Given the description of an element on the screen output the (x, y) to click on. 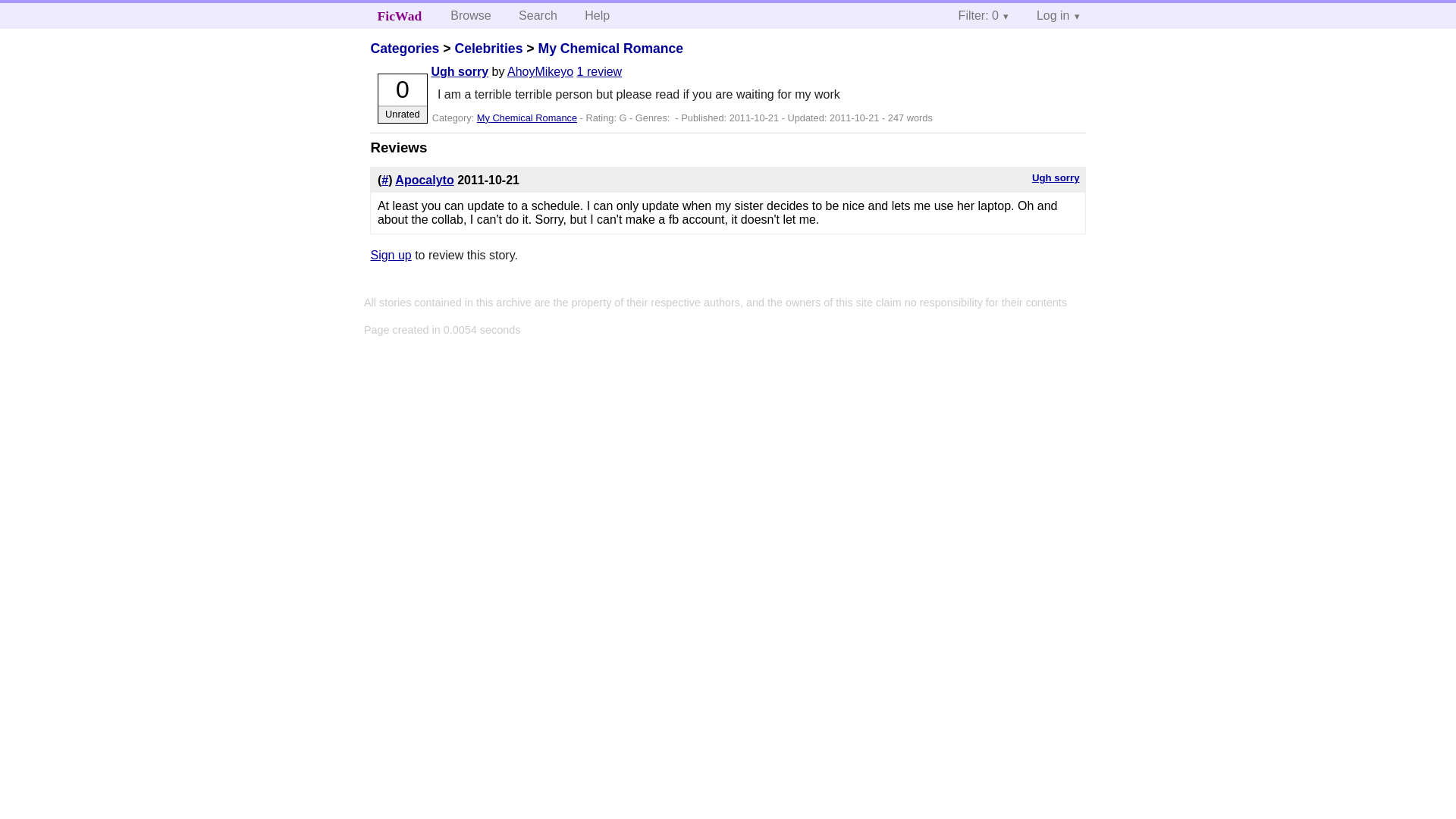
Search (537, 15)
fresh-picked original and fan fiction (399, 15)
Ugh sorry (1056, 177)
FicWad (399, 15)
Filter: 0 (984, 15)
Celebrities (488, 48)
Help (596, 15)
My Chemical Romance (526, 117)
Apocalyto (423, 179)
Sign up (389, 254)
Log in (1058, 15)
AhoyMikeyo (539, 71)
Categories (404, 48)
Browse (470, 15)
2011-10-21 05:24:52 (488, 179)
